Given the description of an element on the screen output the (x, y) to click on. 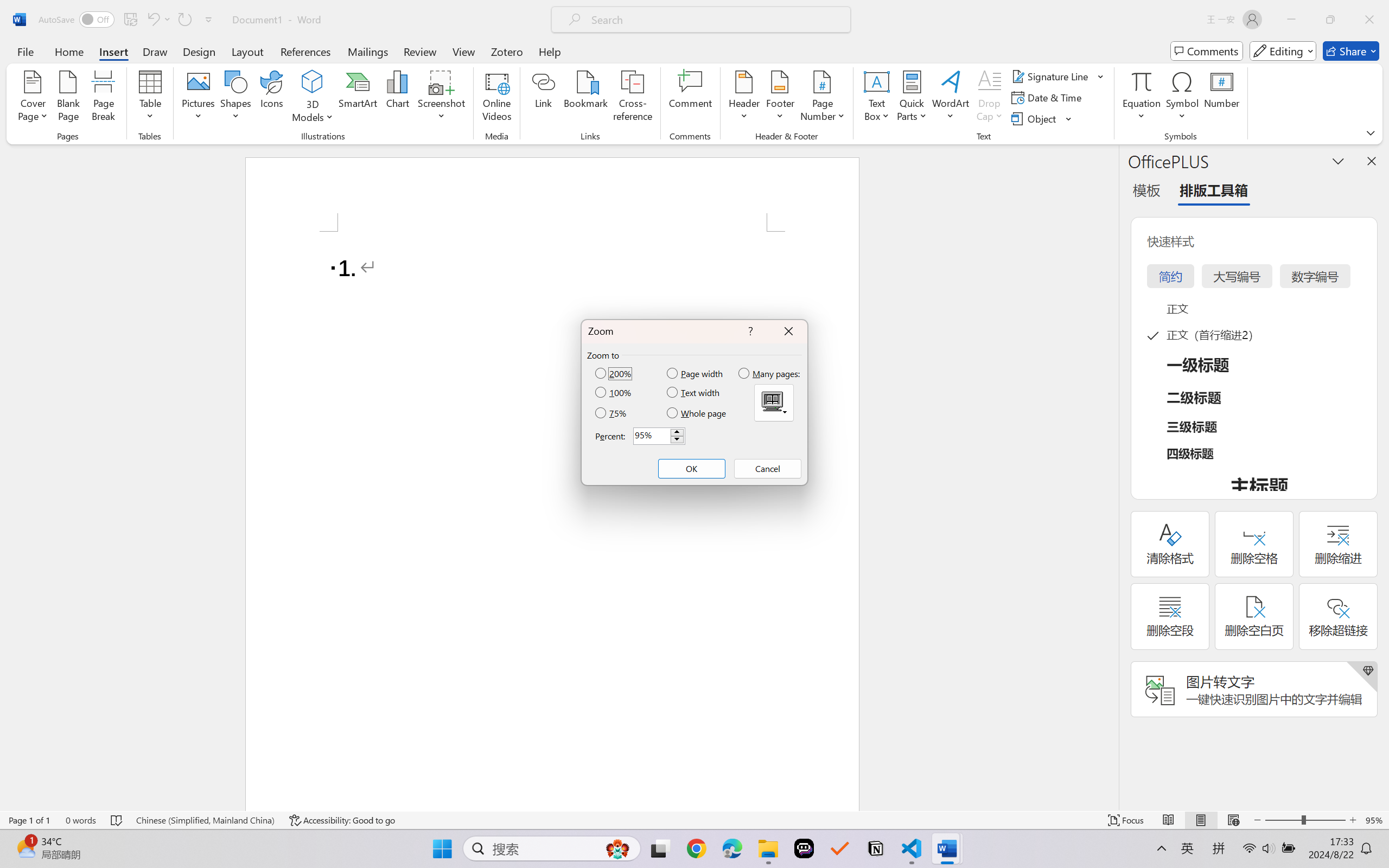
Cross-reference... (632, 97)
Blank Page (67, 97)
Online Videos... (496, 97)
Screenshot (441, 97)
Microsoft Edge (731, 848)
200% (614, 373)
3D Models (312, 97)
Header (743, 97)
